Given the description of an element on the screen output the (x, y) to click on. 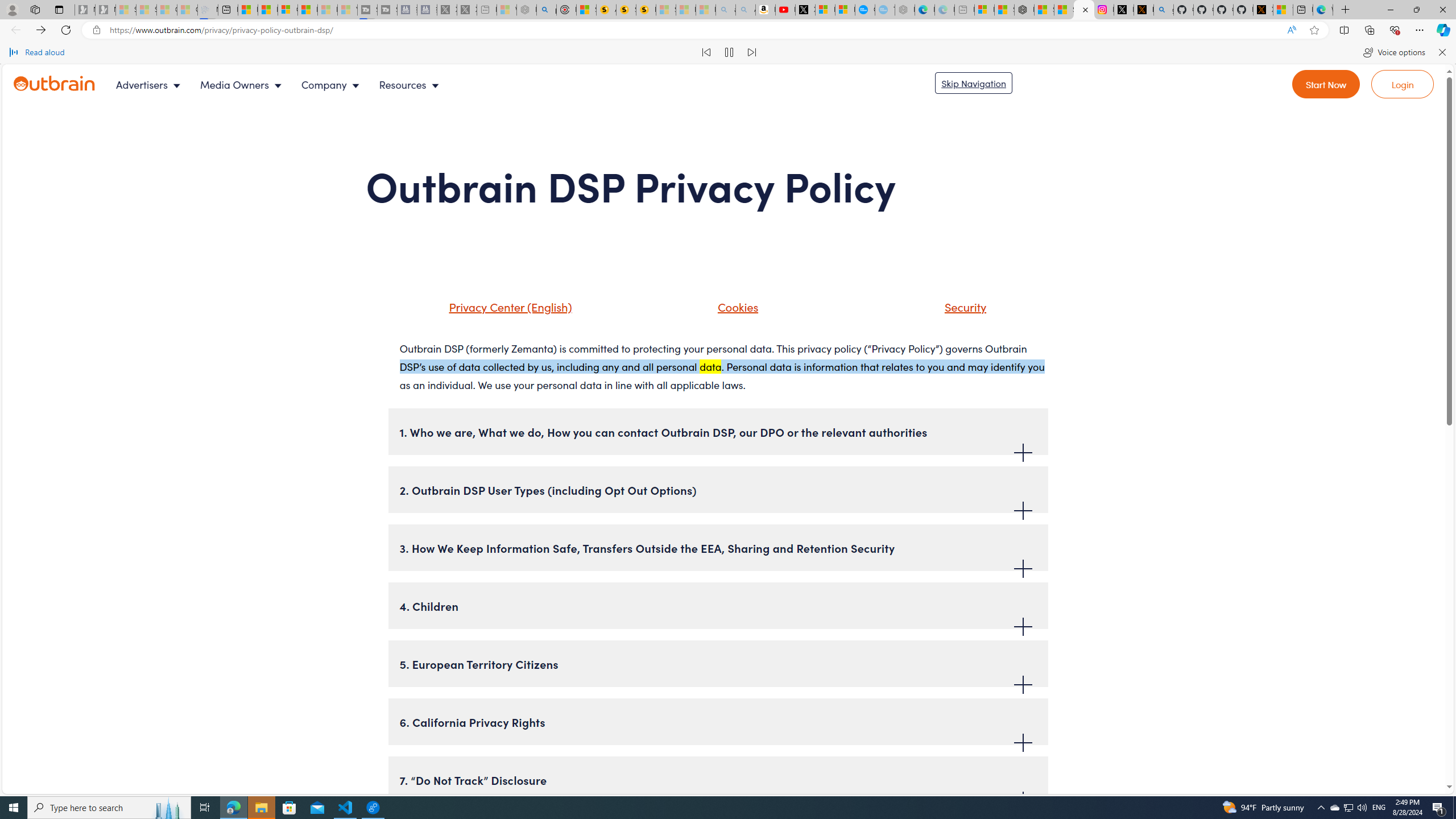
Nordace - Nordace has arrived Hong Kong - Sleeping (904, 9)
Opinion: Op-Ed and Commentary - USA TODAY (864, 9)
Nordace - Summer Adventures 2024 - Sleeping (526, 9)
Go to login (1402, 83)
Amazon Echo Dot PNG - Search Images - Sleeping (745, 9)
Newsletter Sign Up - Sleeping (105, 9)
